Given the description of an element on the screen output the (x, y) to click on. 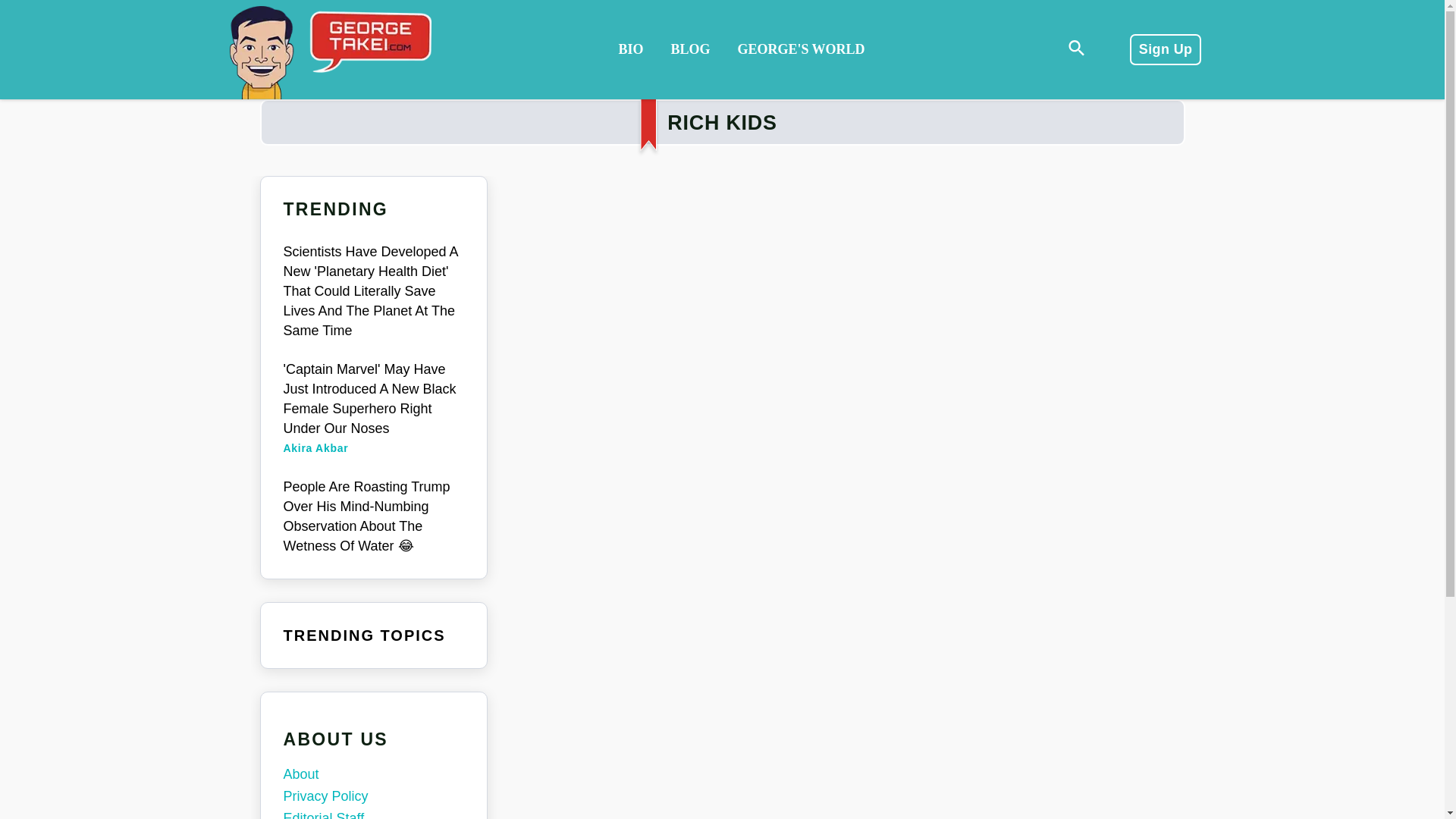
Akira Akbar (316, 448)
BLOG (689, 49)
Editorial Staff (373, 813)
TRENDING TOPICS (364, 635)
Sign Up (1165, 48)
BIO (630, 49)
Privacy Policy (373, 796)
About (373, 774)
